Given the description of an element on the screen output the (x, y) to click on. 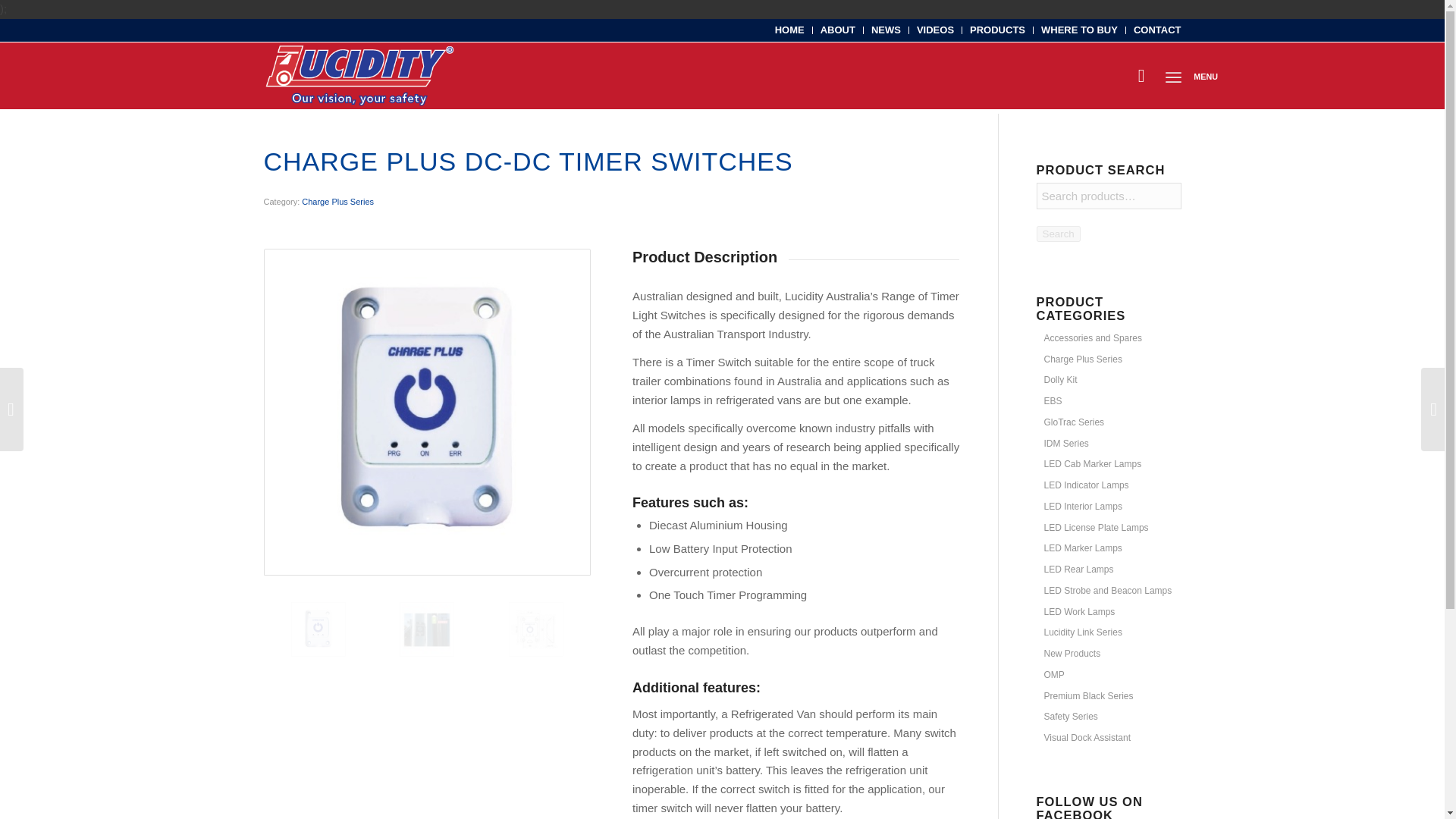
GloTrac Series (1070, 421)
timer-switch (426, 628)
EBS (1049, 400)
LED Strobe and Beacon Lamps (1104, 590)
LED Rear Lamps (1074, 569)
Charge-Plus-timer-dimensions (562, 656)
Charge-Plus-timer-switch (427, 411)
Charge-Plus-timer-switch-2 (453, 656)
Charge Plus Series (1079, 358)
LED Interior Lamps (1079, 506)
